Given the description of an element on the screen output the (x, y) to click on. 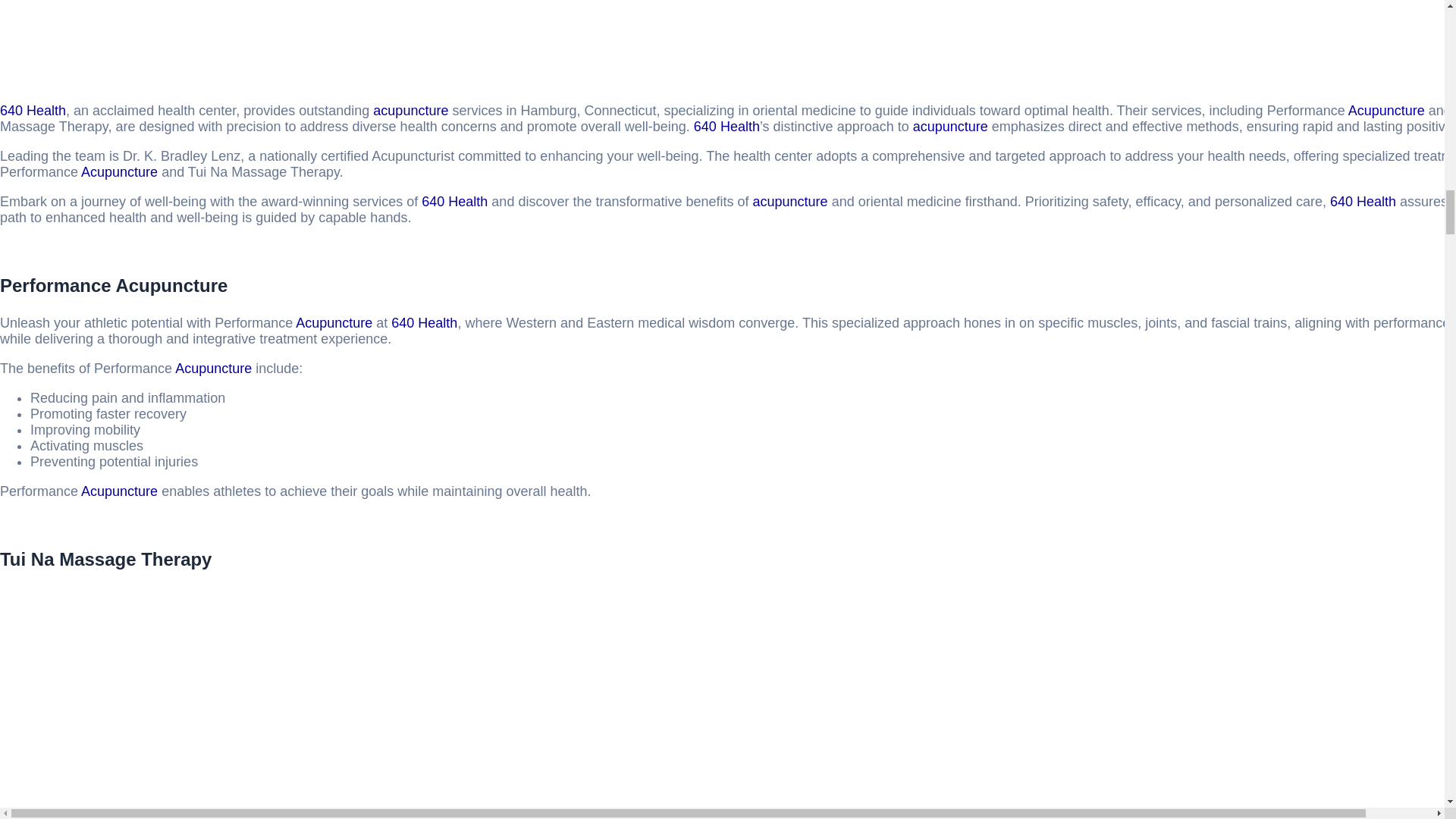
Health Therapies (424, 322)
Health Therapies (32, 110)
Health Therapies (727, 126)
Health Therapies (454, 201)
Health Therapies (1363, 201)
